Given the description of an element on the screen output the (x, y) to click on. 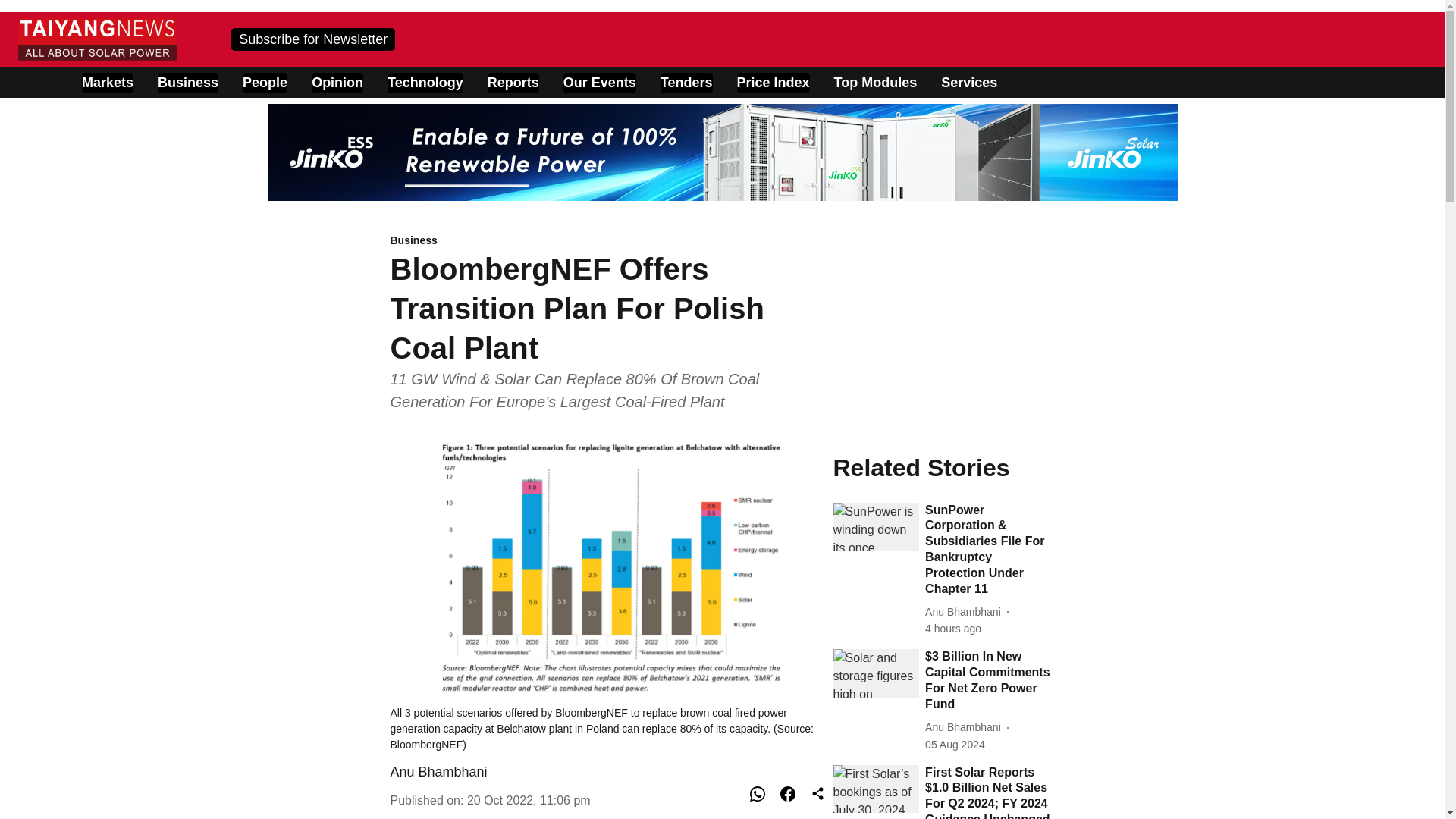
Markets (107, 82)
Technology (425, 82)
Opinion (336, 82)
2024-08-05 10:26 (954, 744)
Tenders (687, 82)
Business (611, 241)
Business (187, 82)
People (264, 82)
2024-08-06 09:18 (952, 628)
Subscribe for Newsletter (312, 38)
2022-10-20 15:06 (529, 799)
Our Events (599, 82)
Price Index (772, 82)
Anu Bhambhani (438, 771)
